Given the description of an element on the screen output the (x, y) to click on. 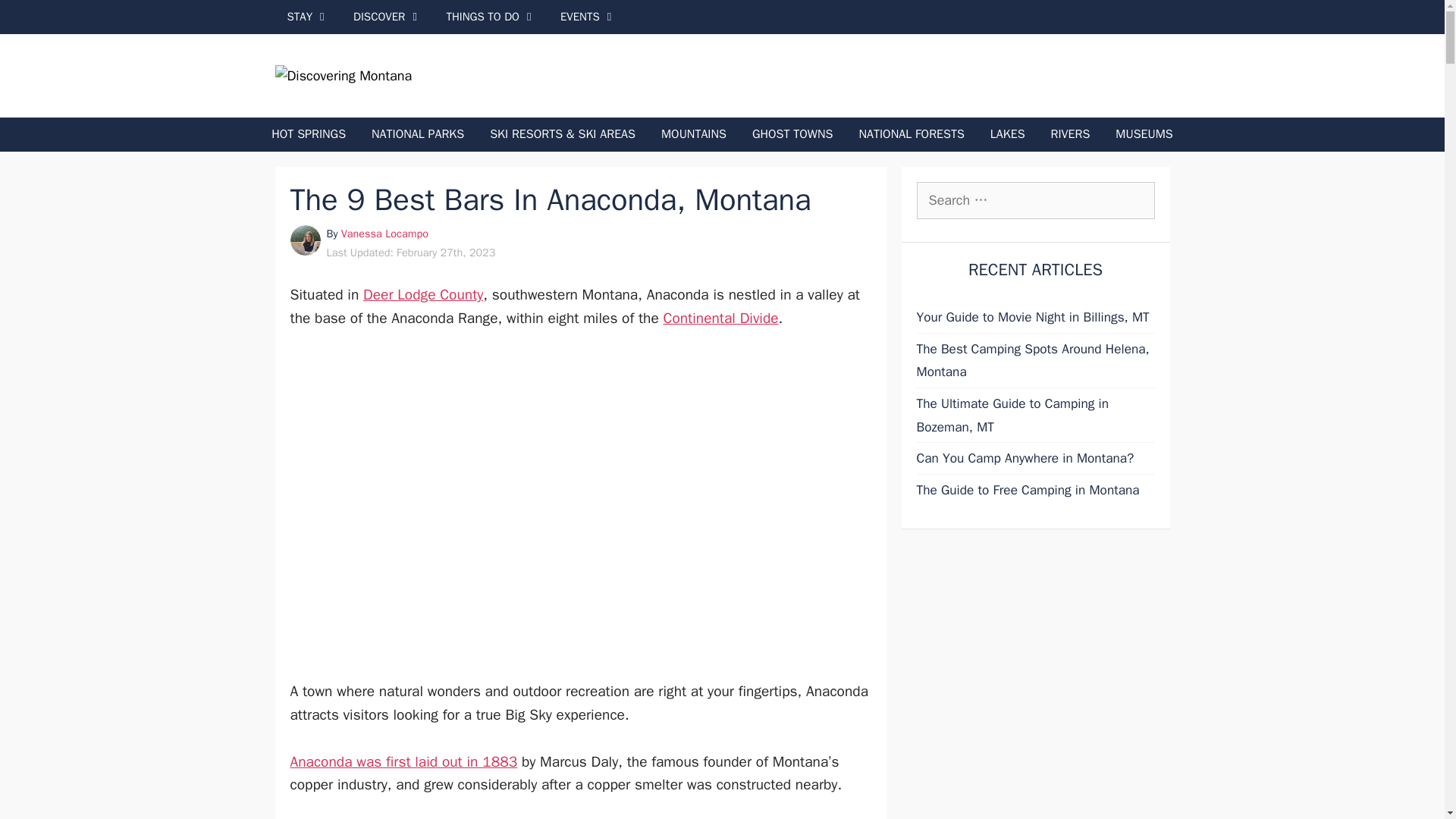
THINGS TO DO (490, 17)
Read more (384, 233)
DISCOVER (386, 17)
Search for: (1034, 200)
STAY (307, 17)
